Given the description of an element on the screen output the (x, y) to click on. 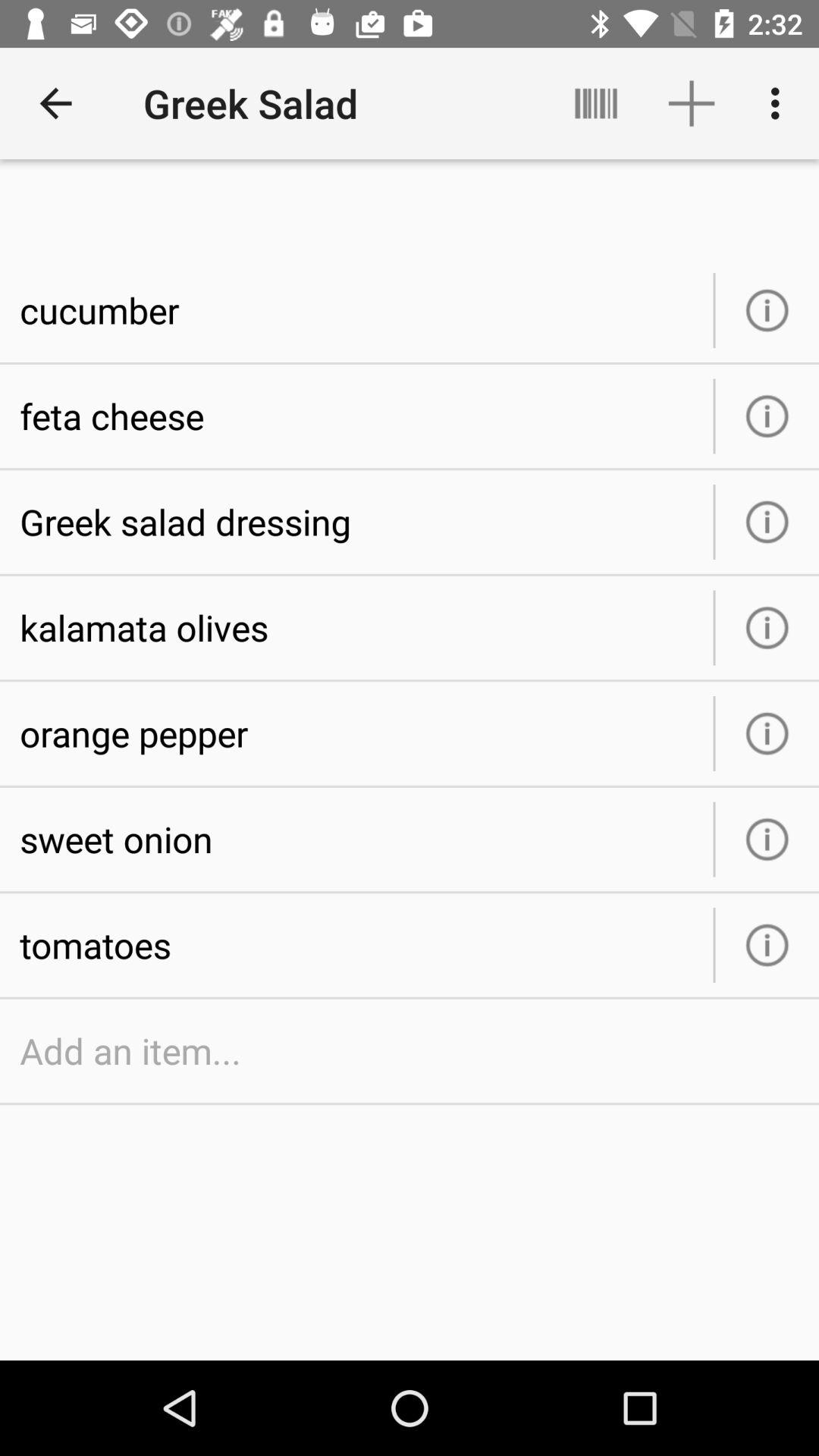
press item to the right of the greek salad icon (595, 103)
